Given the description of an element on the screen output the (x, y) to click on. 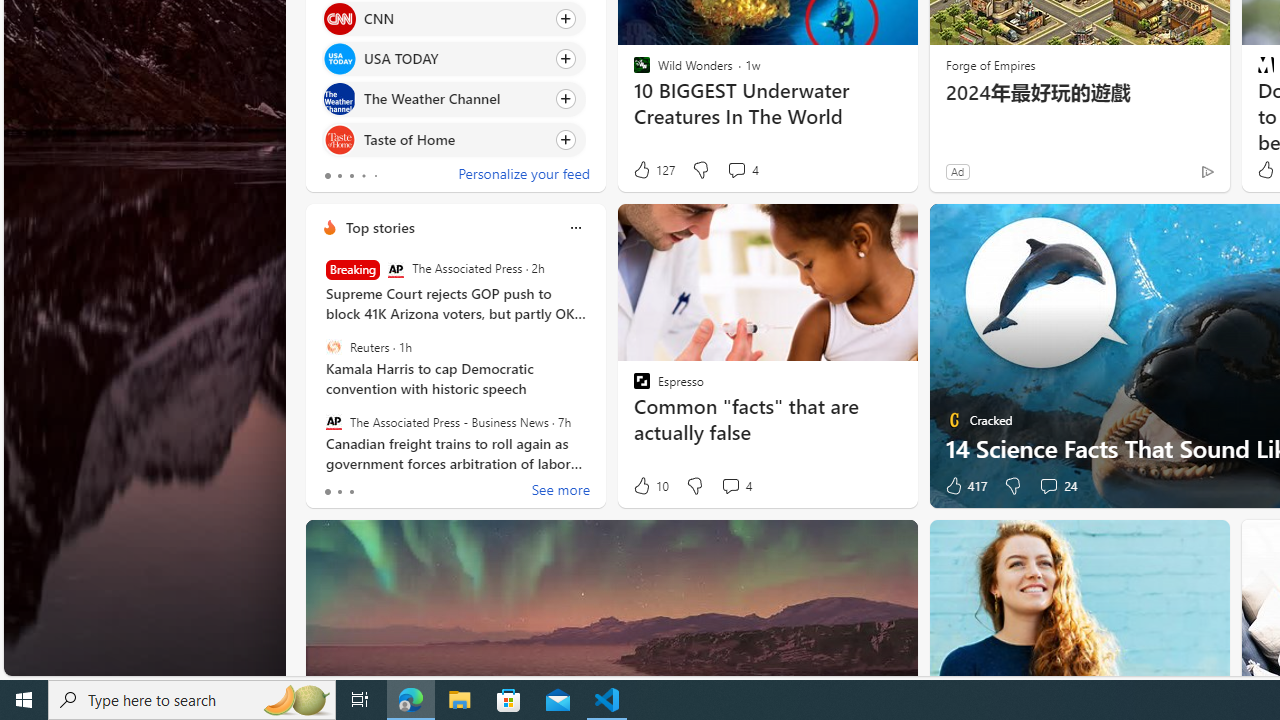
tab-3 (363, 175)
tab-1 (338, 491)
127 Like (653, 170)
Dislike (1012, 485)
Forge of Empires (989, 64)
Ad Choice (1206, 171)
View comments 4 Comment (730, 485)
Click to follow source Taste of Home (453, 138)
Taste of Home (338, 139)
CNN (338, 18)
tab-4 (374, 175)
Top stories (379, 227)
Reuters (333, 347)
